Given the description of an element on the screen output the (x, y) to click on. 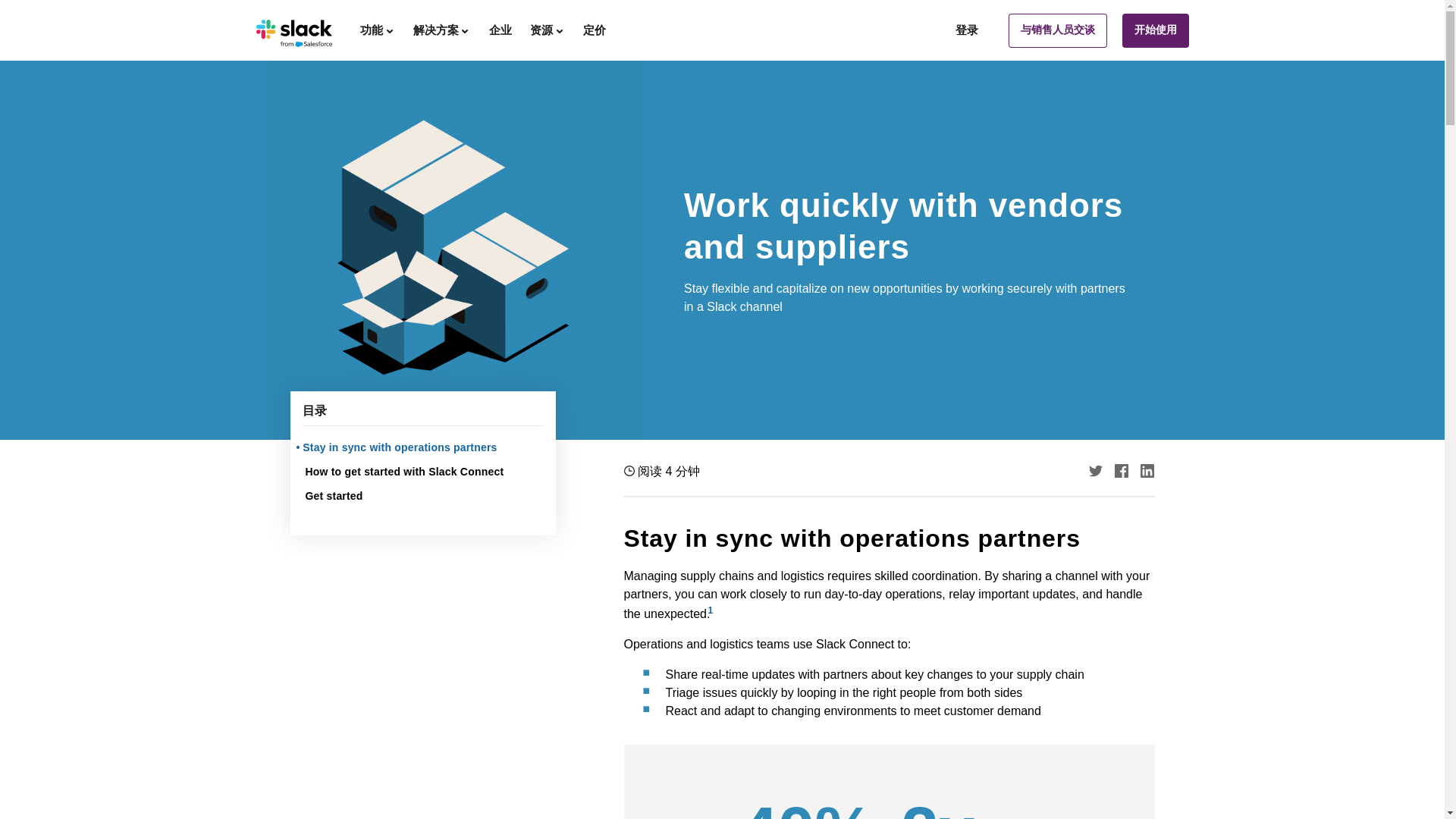
LinkedIn (1147, 470)
Twitter (1095, 470)
Facebook (1121, 470)
